Given the description of an element on the screen output the (x, y) to click on. 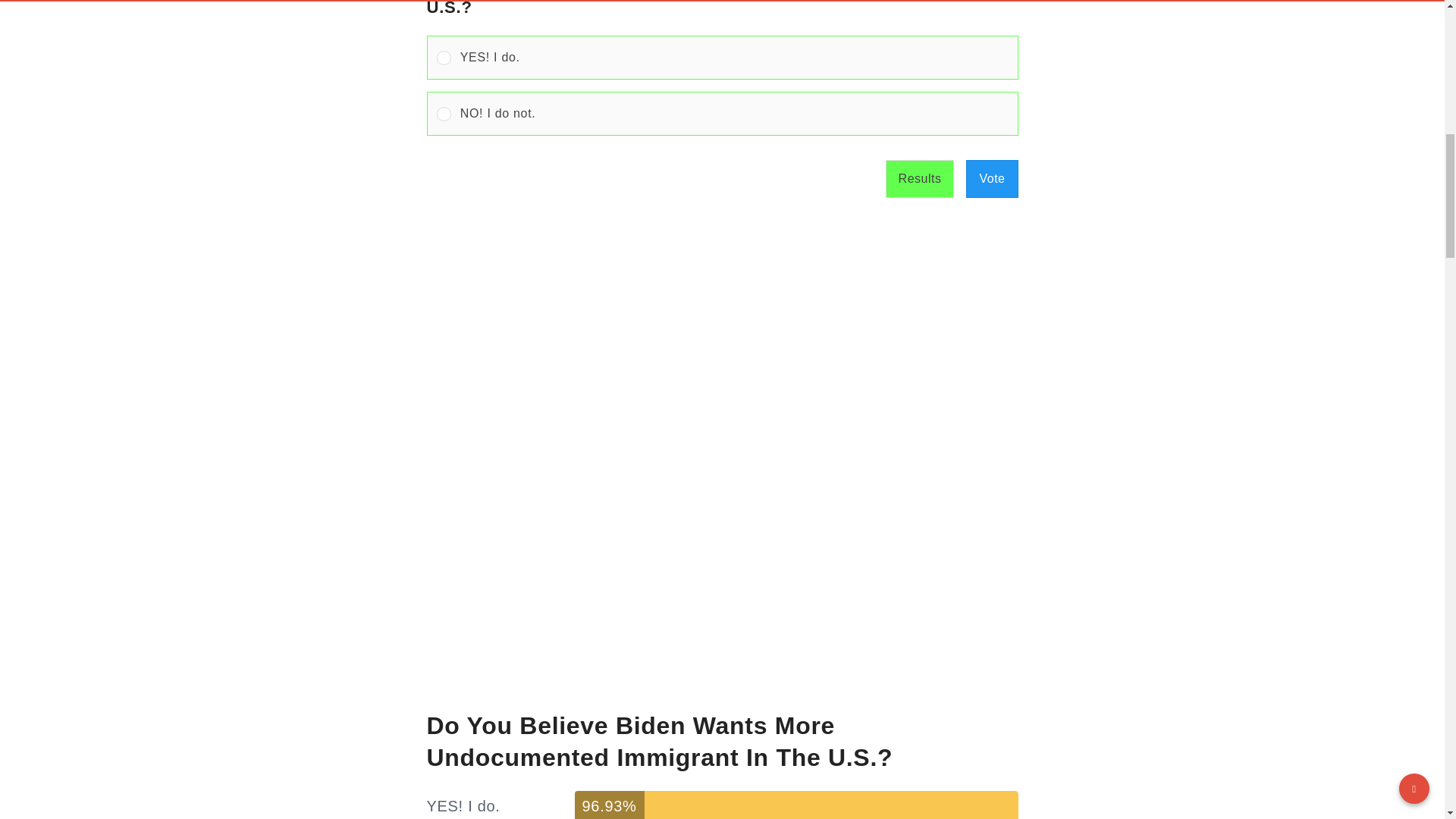
Results (920, 178)
Vote (991, 178)
